Given the description of an element on the screen output the (x, y) to click on. 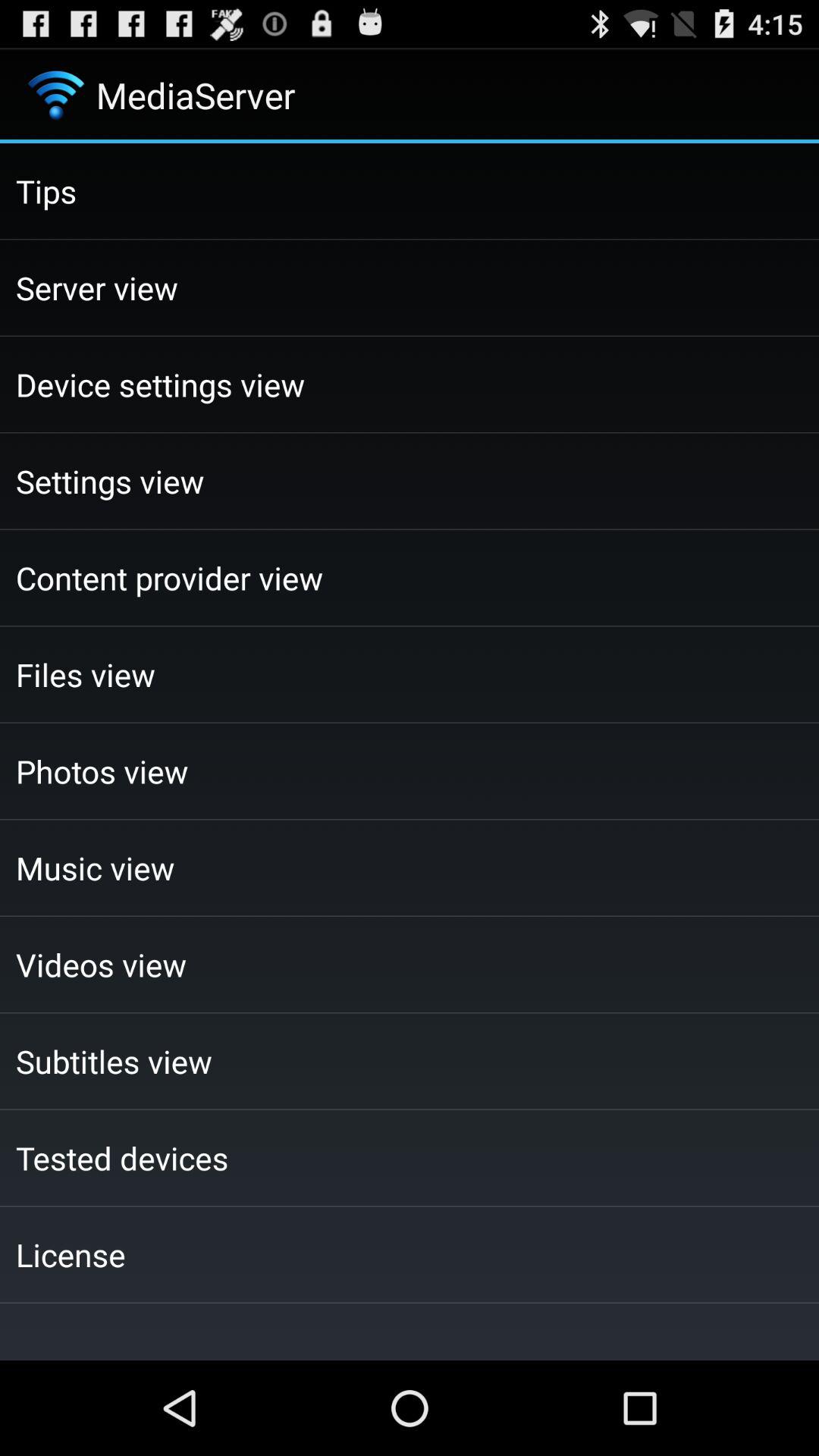
tap the icon above the music view (409, 771)
